Given the description of an element on the screen output the (x, y) to click on. 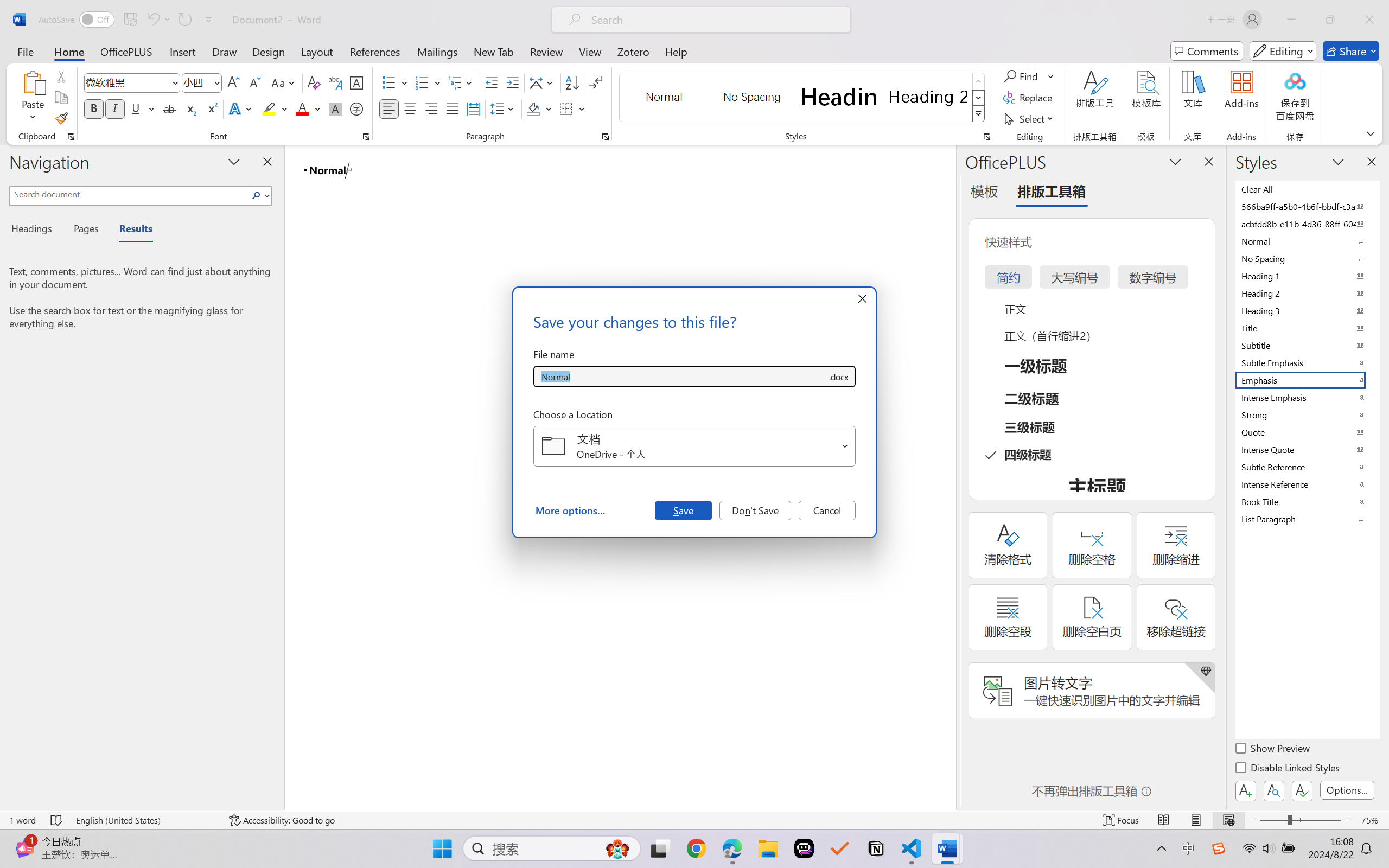
Show/Hide Editing Marks (595, 82)
Font Color Red (302, 108)
Help (675, 51)
Font Size (196, 82)
Restore Down (1330, 19)
Google Chrome (696, 848)
Font Color (308, 108)
Comments (1206, 50)
Font Size (201, 82)
